Given the description of an element on the screen output the (x, y) to click on. 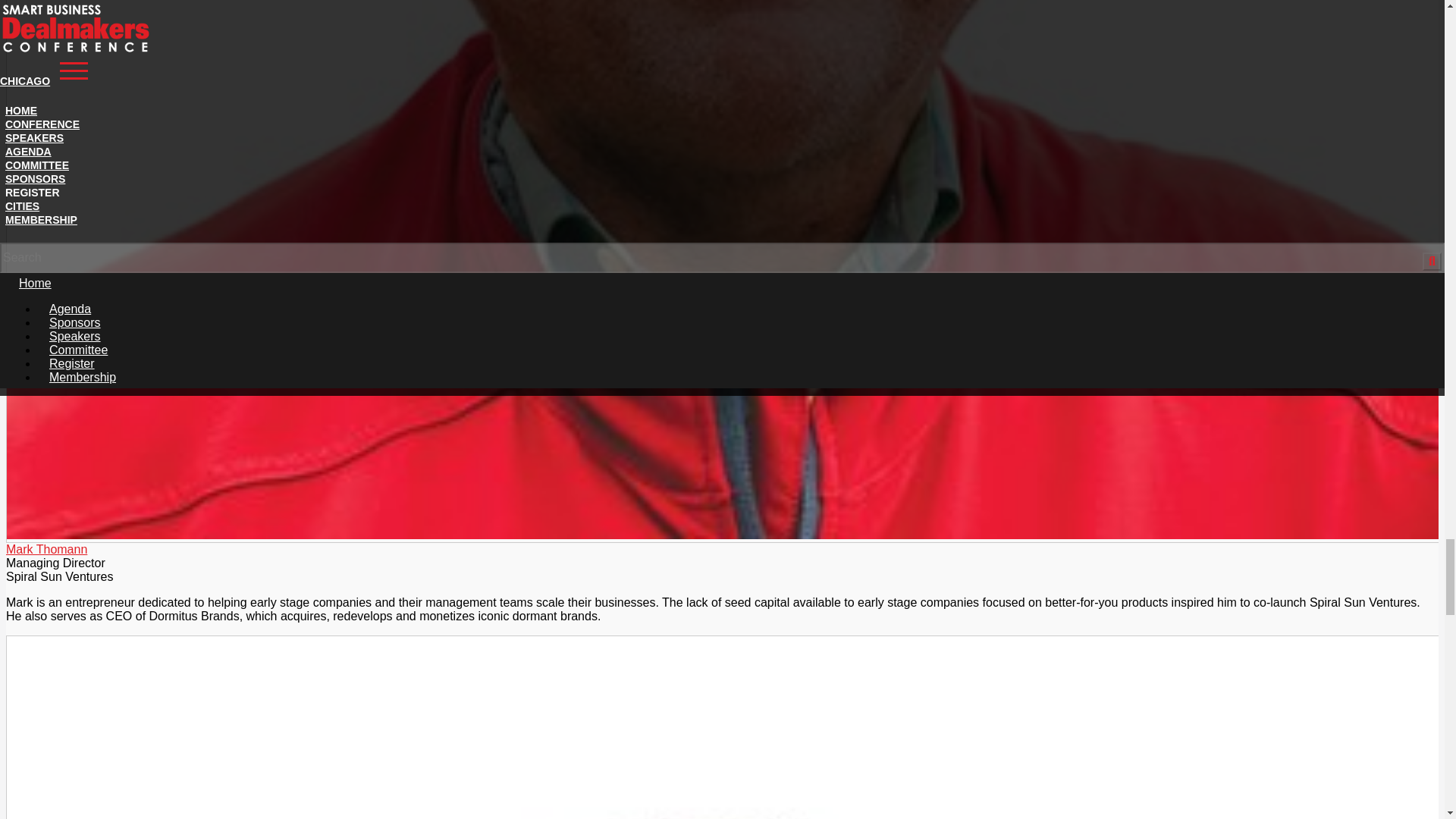
Mark Thomann (46, 549)
